Given the description of an element on the screen output the (x, y) to click on. 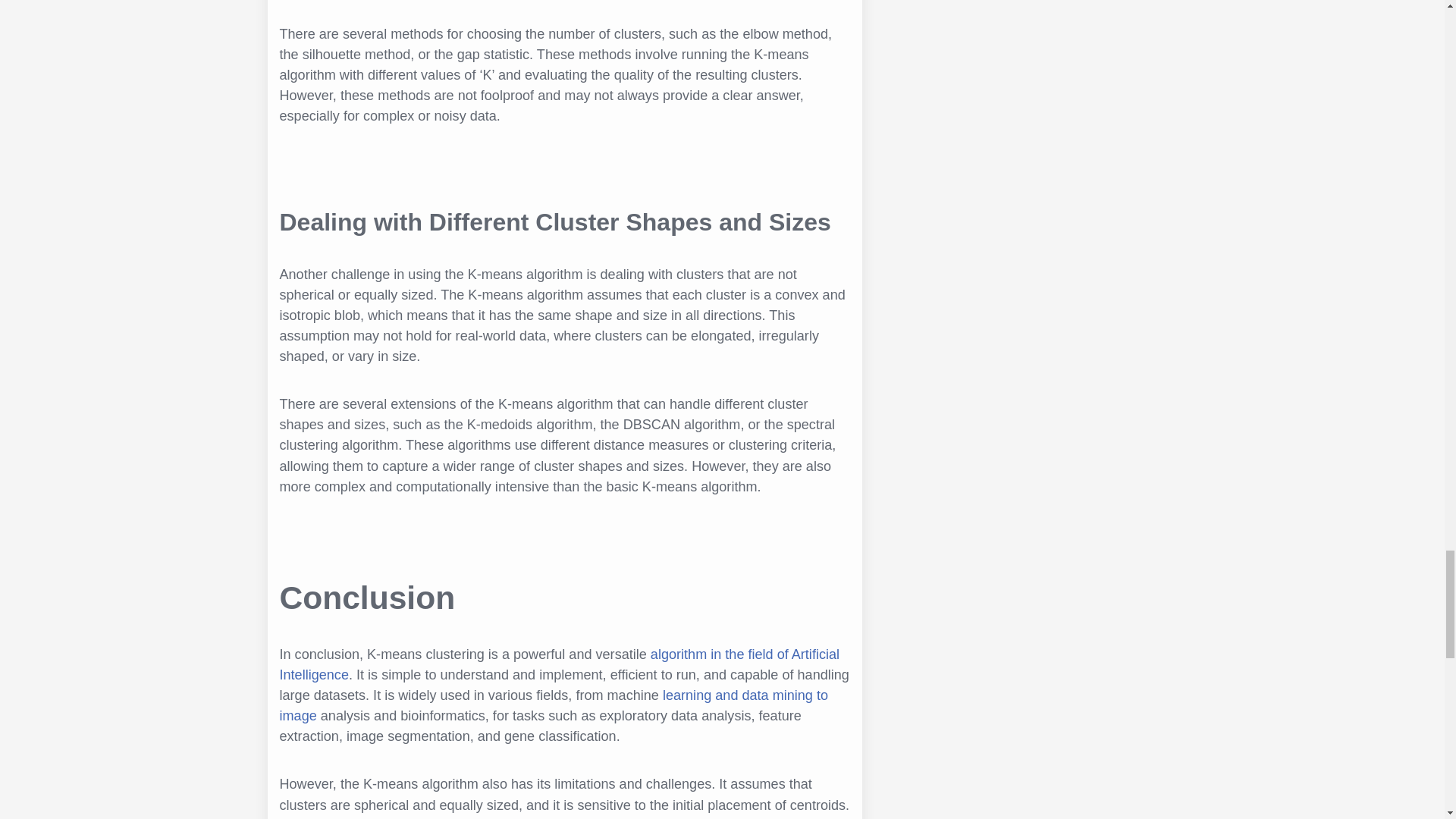
learning and data mining to image (553, 705)
algorithm in the field of Artificial Intelligence (559, 664)
